Given the description of an element on the screen output the (x, y) to click on. 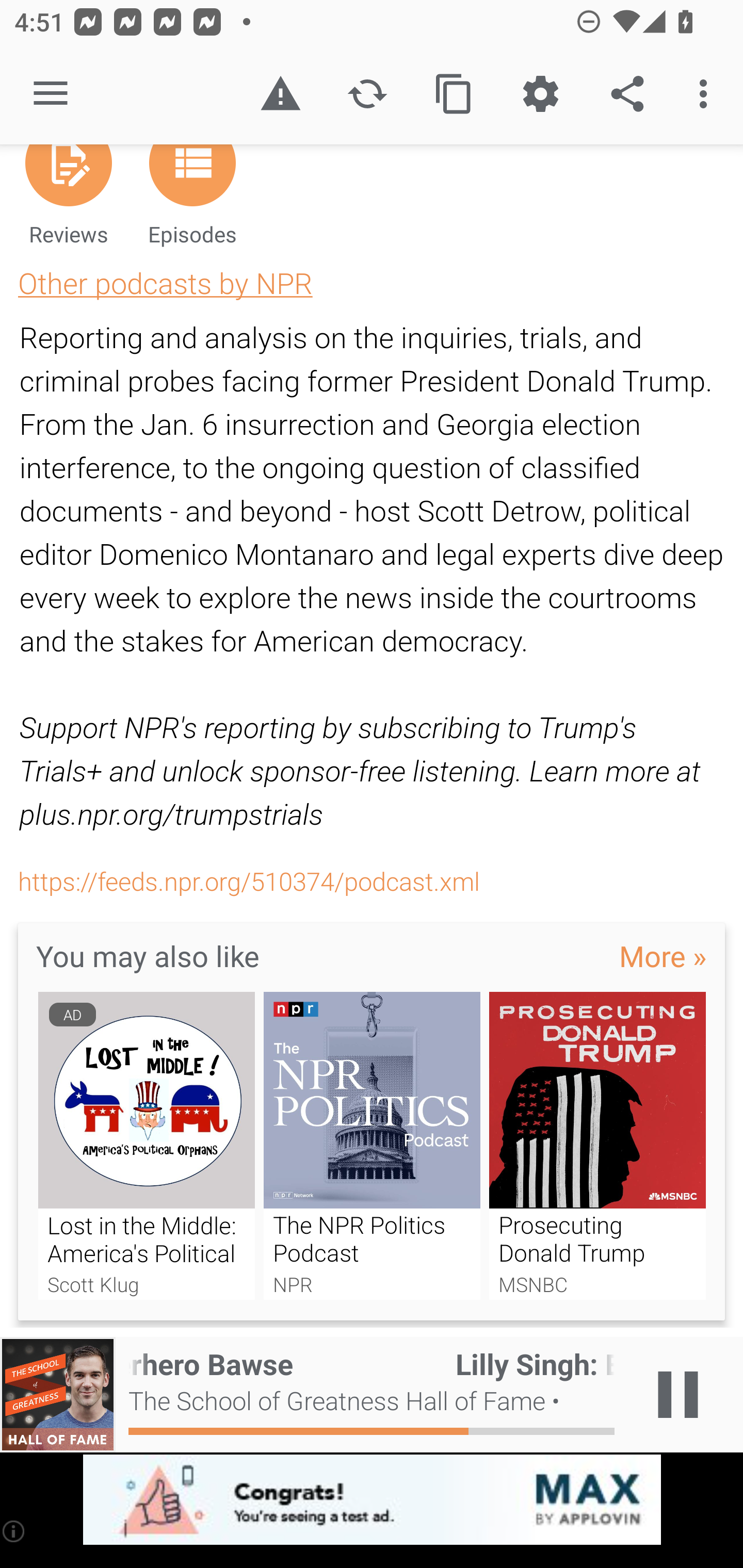
Open navigation sidebar (50, 93)
Report inappropriate content (280, 93)
Refresh podcast description (366, 93)
Copy feed url to clipboard (453, 93)
Custom Settings (540, 93)
Share the podcast (626, 93)
More options (706, 93)
Reviews (68, 203)
Episodes (192, 203)
Other podcasts by NPR (164, 282)
More » (662, 955)
The NPR Politics Podcast NPR (371, 1145)
Prosecuting Donald Trump MSNBC (596, 1145)
Play / Pause (677, 1394)
